Given the description of an element on the screen output the (x, y) to click on. 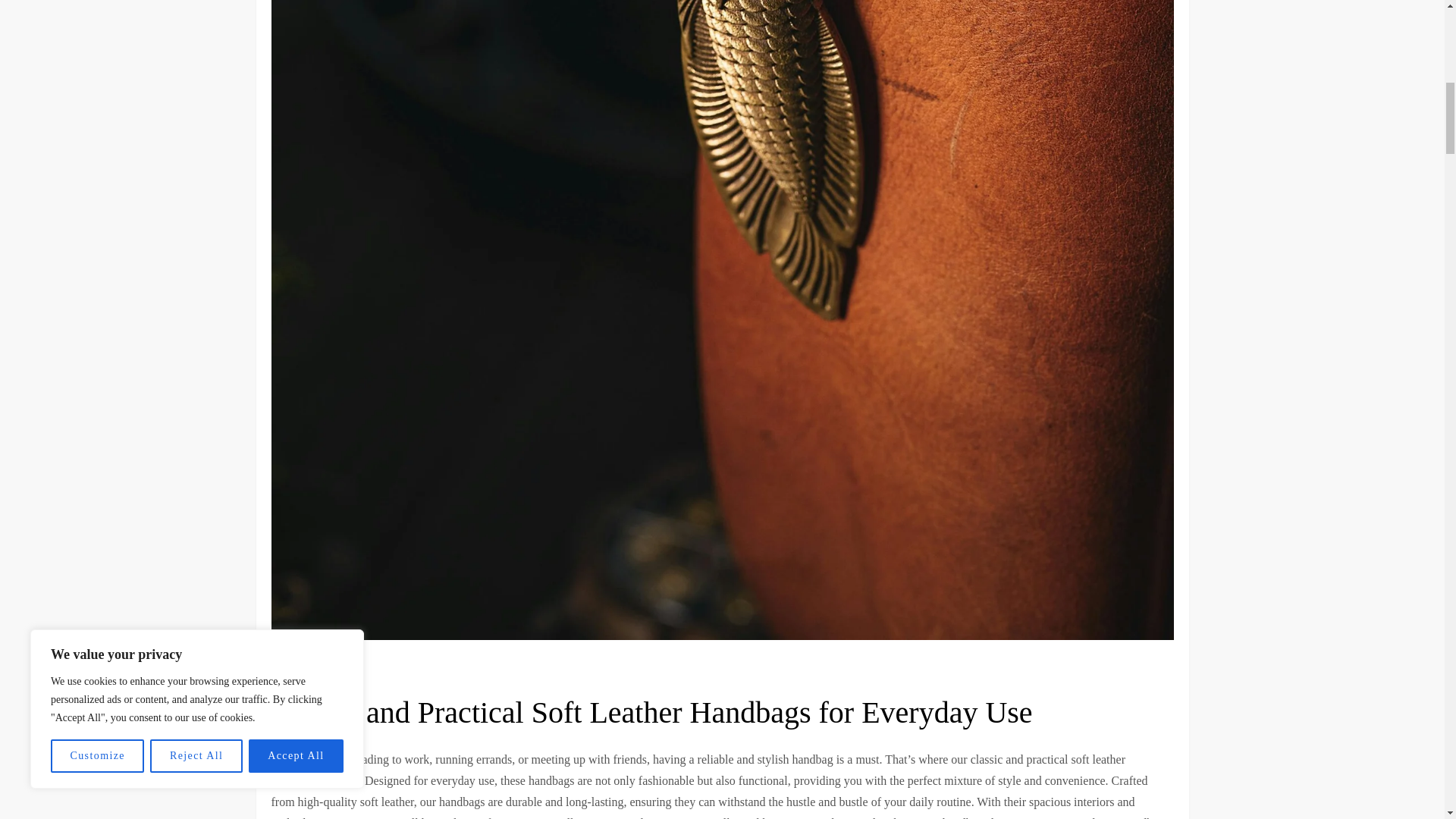
February 29, 2024 (316, 668)
